Given the description of an element on the screen output the (x, y) to click on. 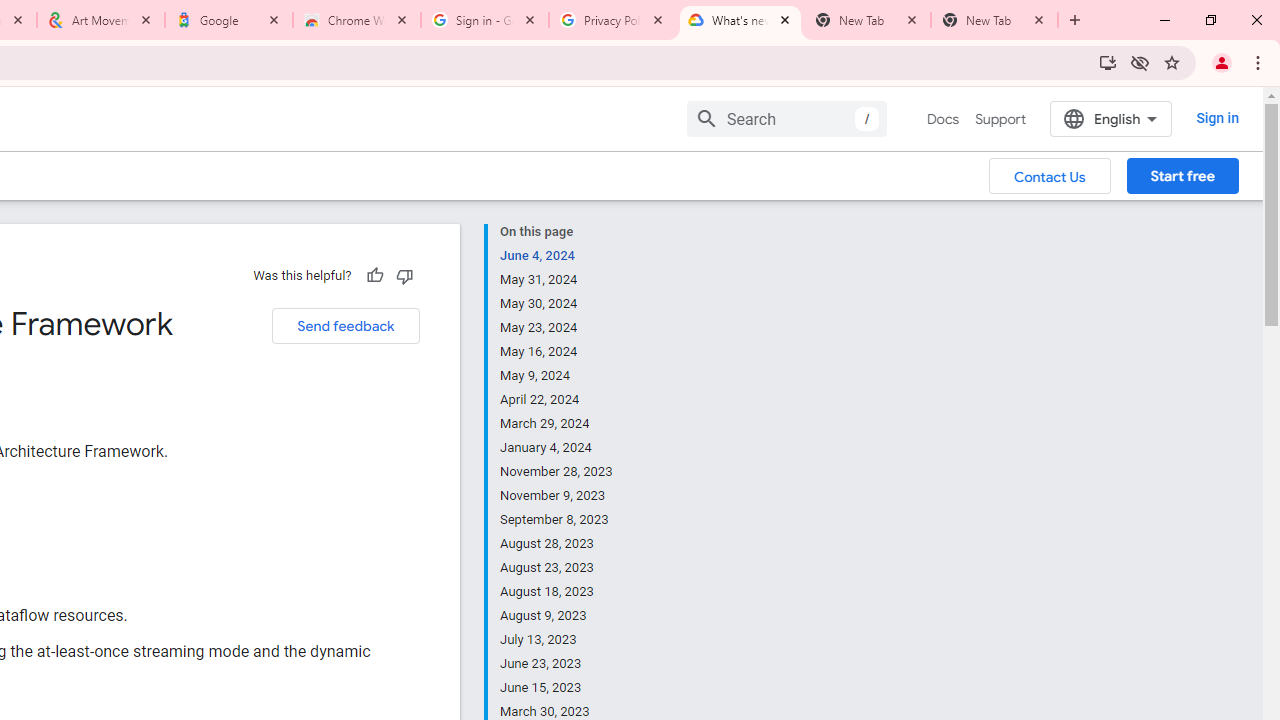
November 9, 2023 (557, 495)
March 29, 2024 (557, 423)
Support (1000, 119)
Start free (1182, 175)
July 13, 2023 (557, 639)
May 23, 2024 (557, 327)
Helpful (374, 275)
Sign in - Google Accounts (485, 20)
Send feedback (345, 326)
New Tab (994, 20)
English (1110, 118)
